Given the description of an element on the screen output the (x, y) to click on. 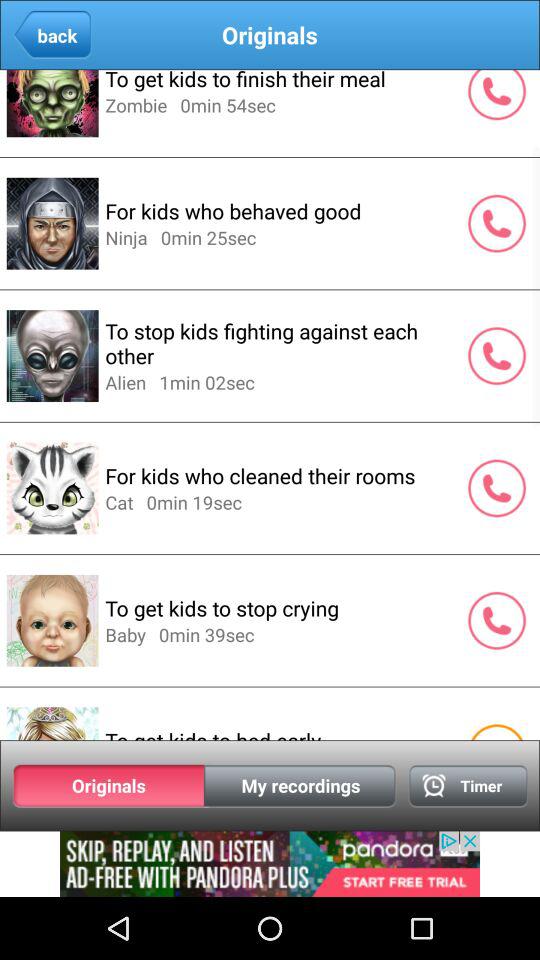
toggle to advertisement option (270, 864)
